Given the description of an element on the screen output the (x, y) to click on. 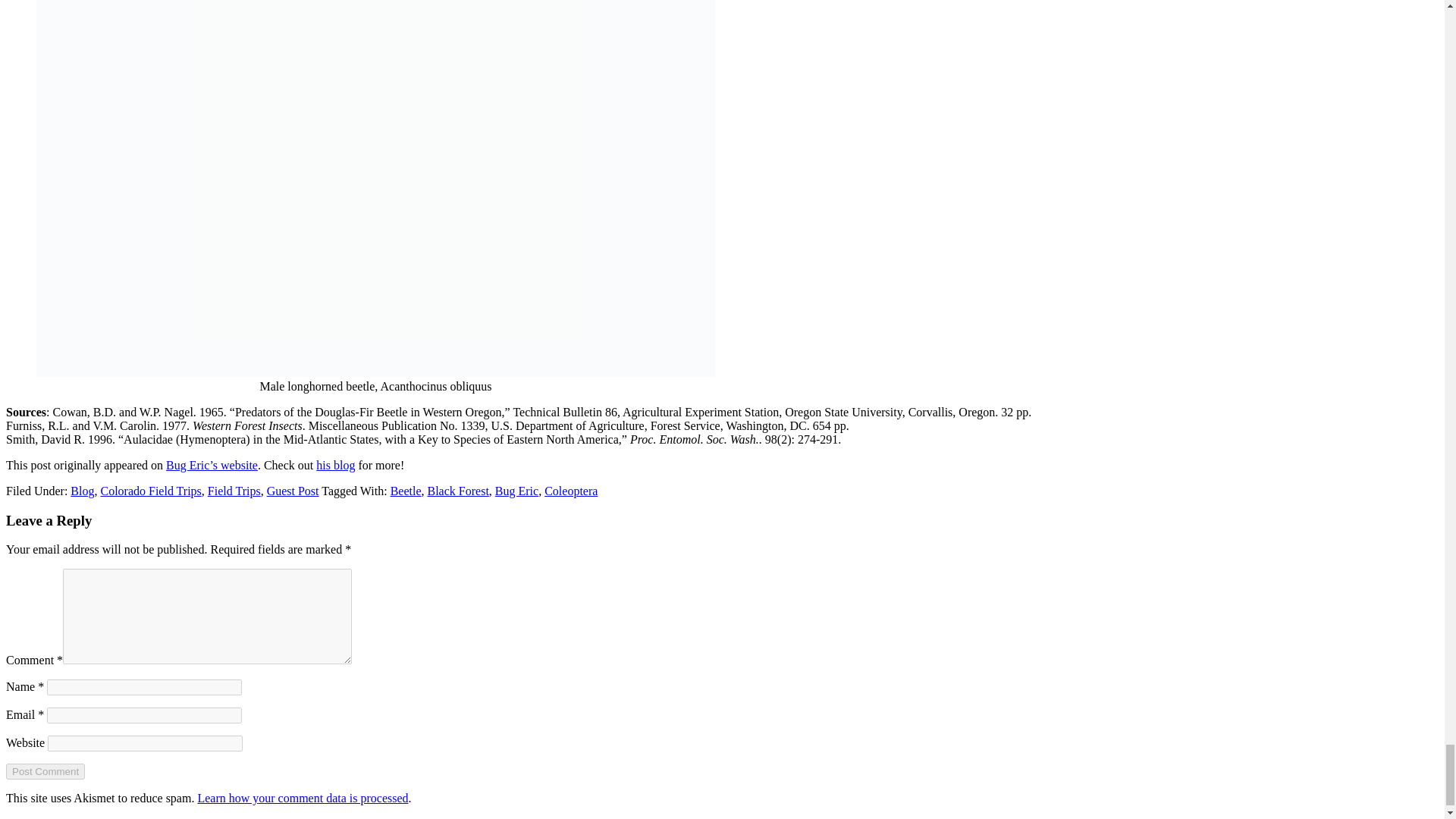
Learn how your comment data is processed (301, 797)
Black Forest (458, 490)
his blog (335, 464)
Post Comment (44, 771)
Blog (81, 490)
Post Comment (44, 771)
Colorado Field Trips (150, 490)
Guest Post (292, 490)
Bug Eric (516, 490)
Field Trips (234, 490)
Beetle (406, 490)
Coleoptera (570, 490)
